Given the description of an element on the screen output the (x, y) to click on. 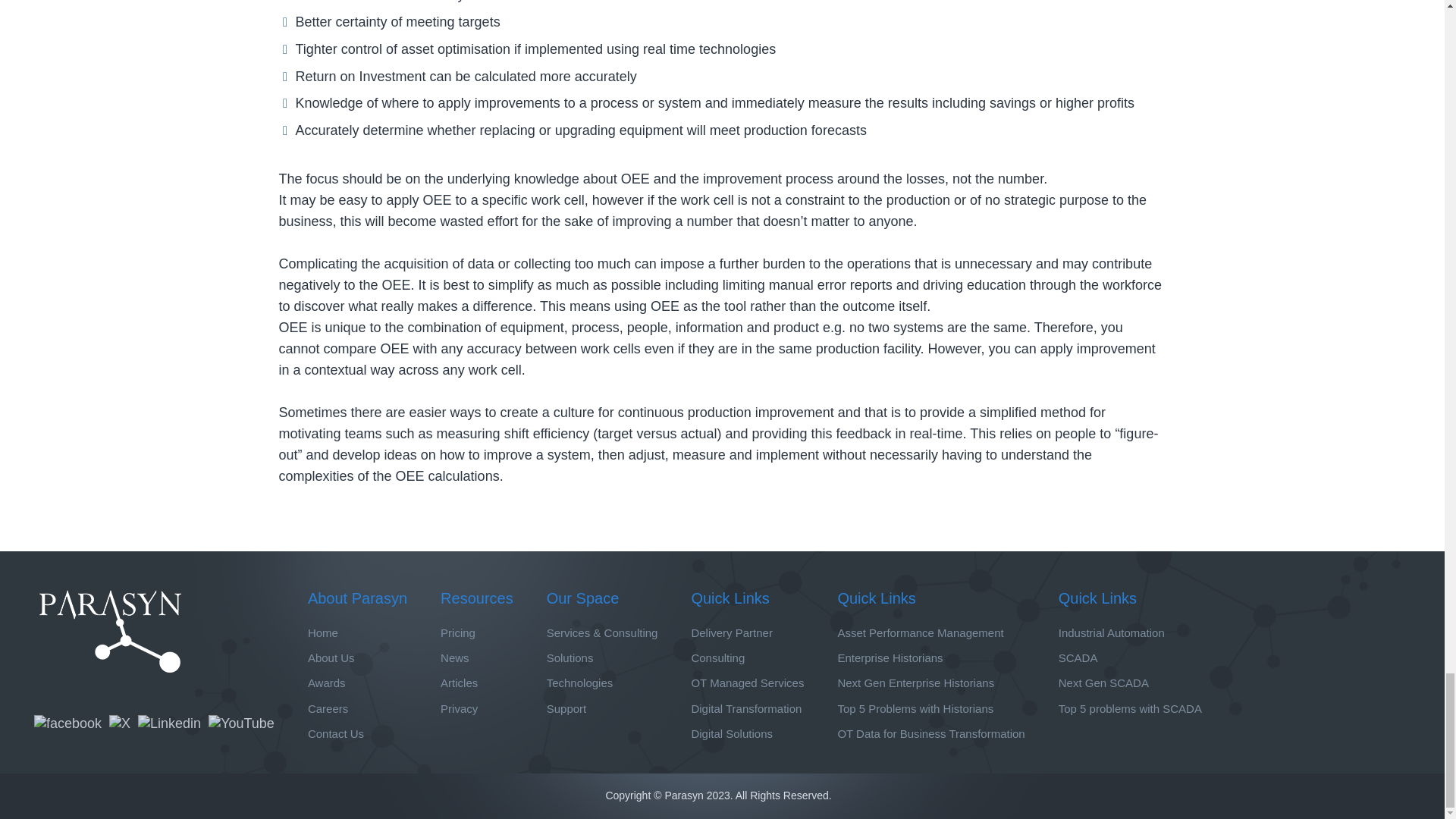
Awards (326, 683)
Home (322, 632)
Facebook (67, 723)
About Us (331, 657)
